Given the description of an element on the screen output the (x, y) to click on. 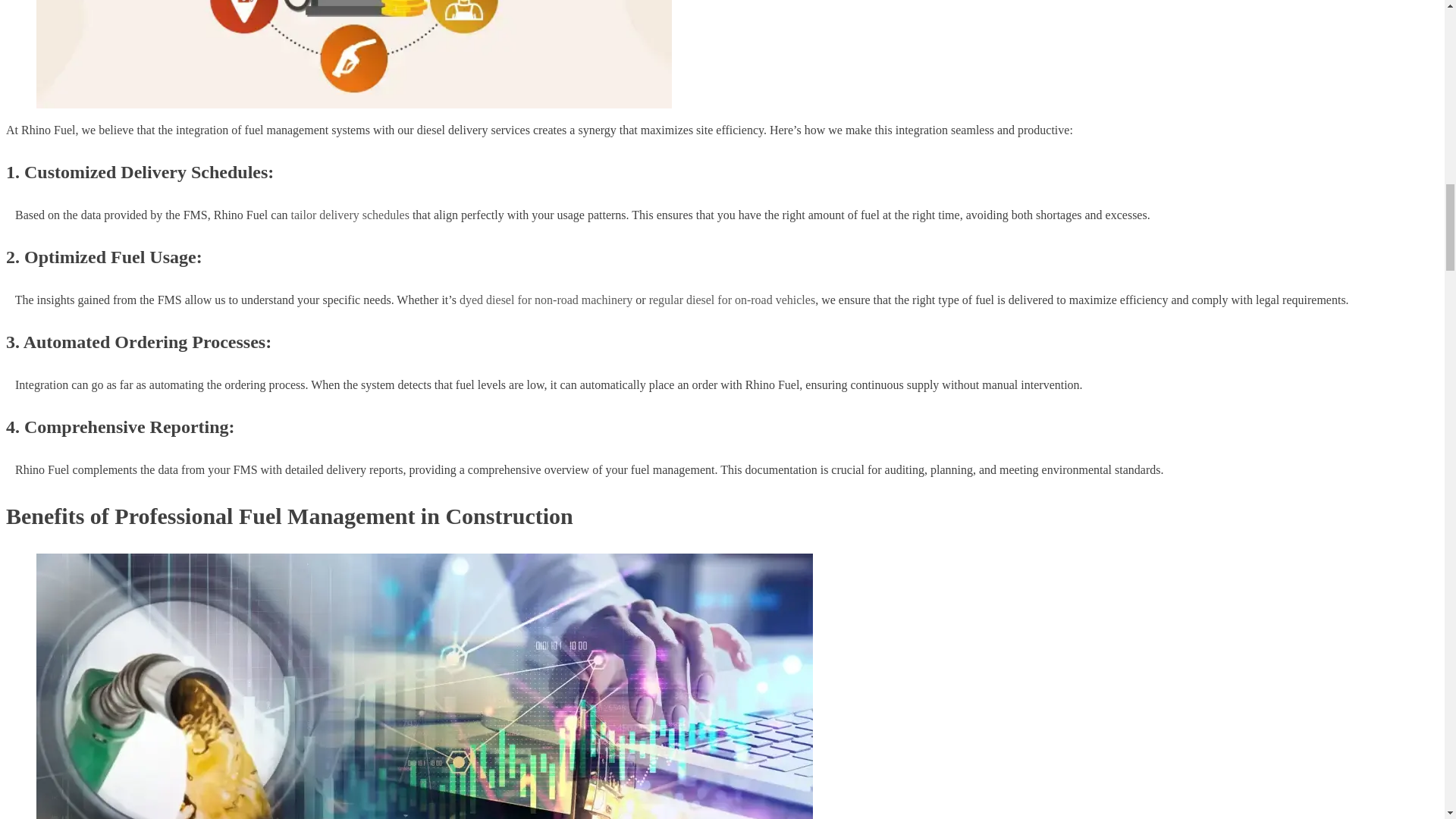
tailor delivery schedules (350, 214)
dyed diesel for non-road machinery (545, 299)
tailor delivery schedules (350, 214)
regular diesel for on-road vehicles (732, 299)
regular diesel for on-road vehicles (732, 299)
dyed diesel for non-road machinery (545, 299)
